Given the description of an element on the screen output the (x, y) to click on. 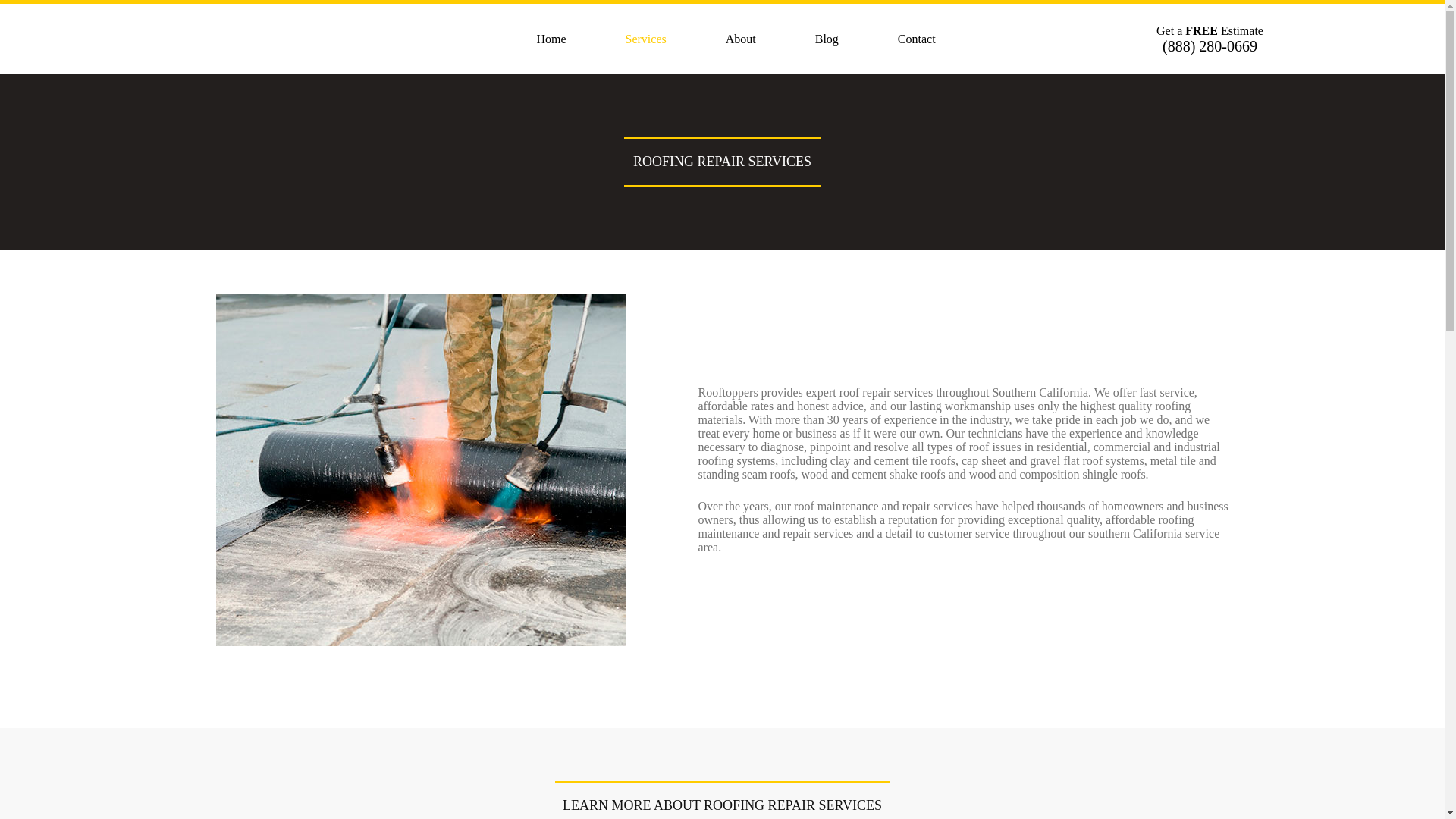
Blog (826, 39)
Contact (916, 39)
About (740, 39)
Home (550, 39)
Services (645, 39)
